Given the description of an element on the screen output the (x, y) to click on. 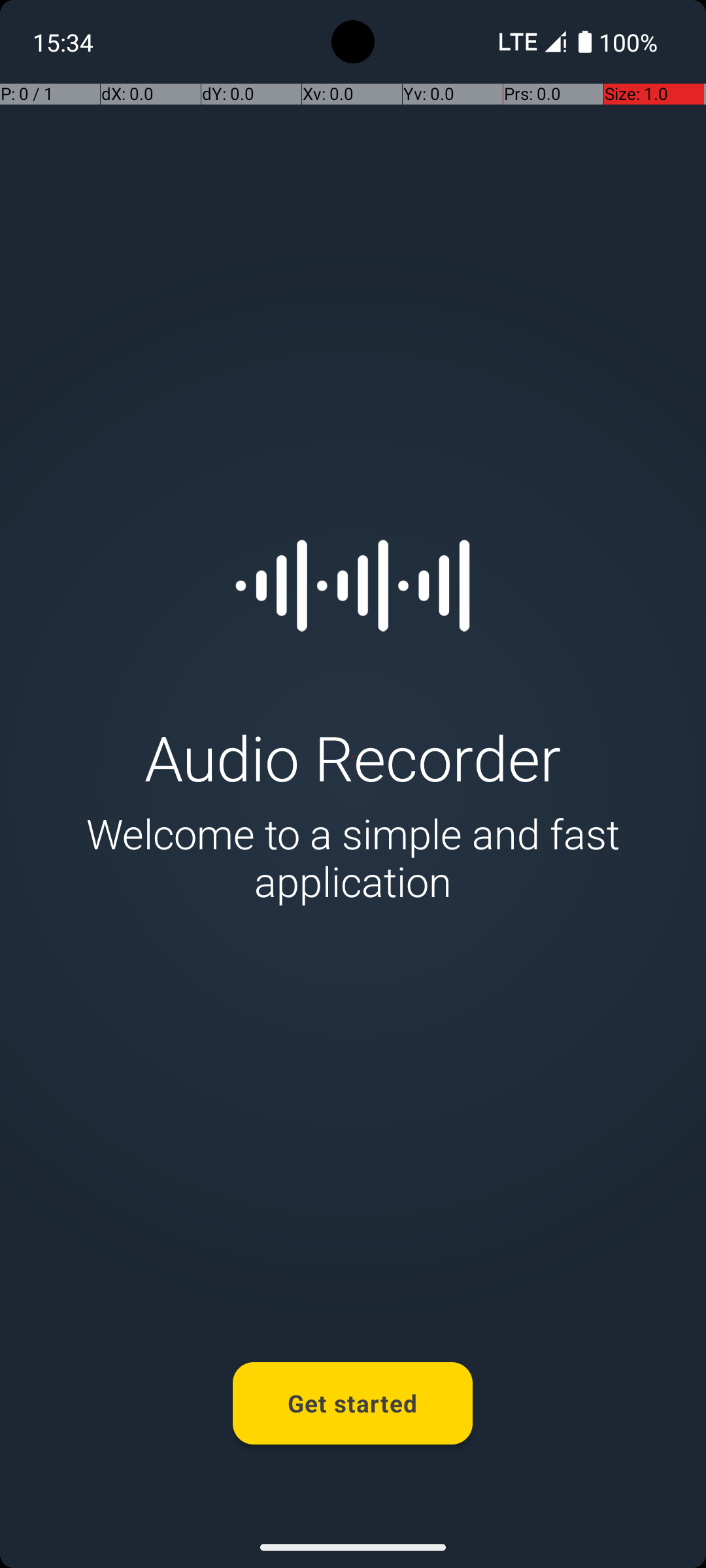
Welcome to a simple and fast application Element type: android.widget.TextView (352, 856)
